Given the description of an element on the screen output the (x, y) to click on. 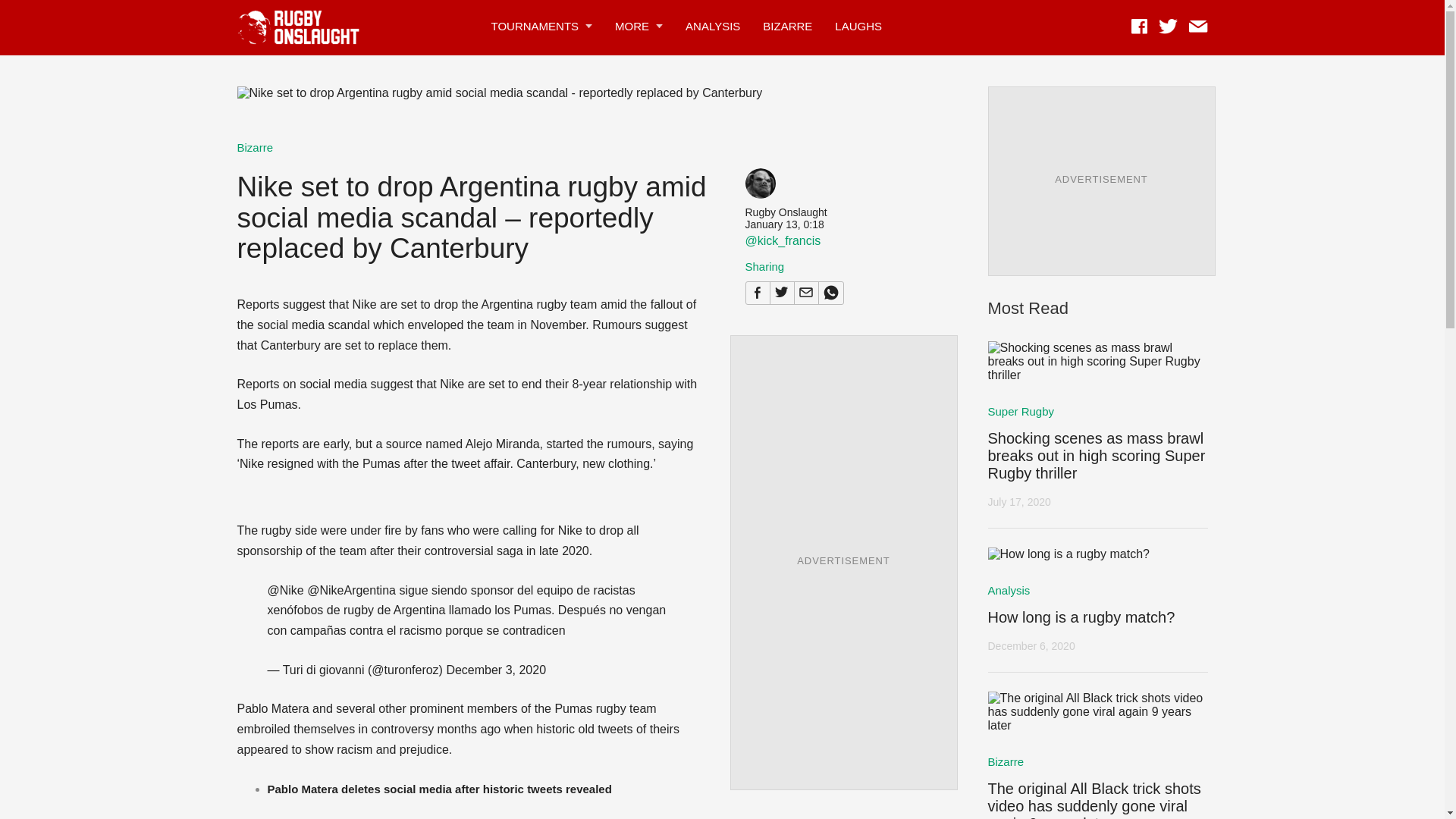
TOURNAMENTS (535, 25)
